Given the description of an element on the screen output the (x, y) to click on. 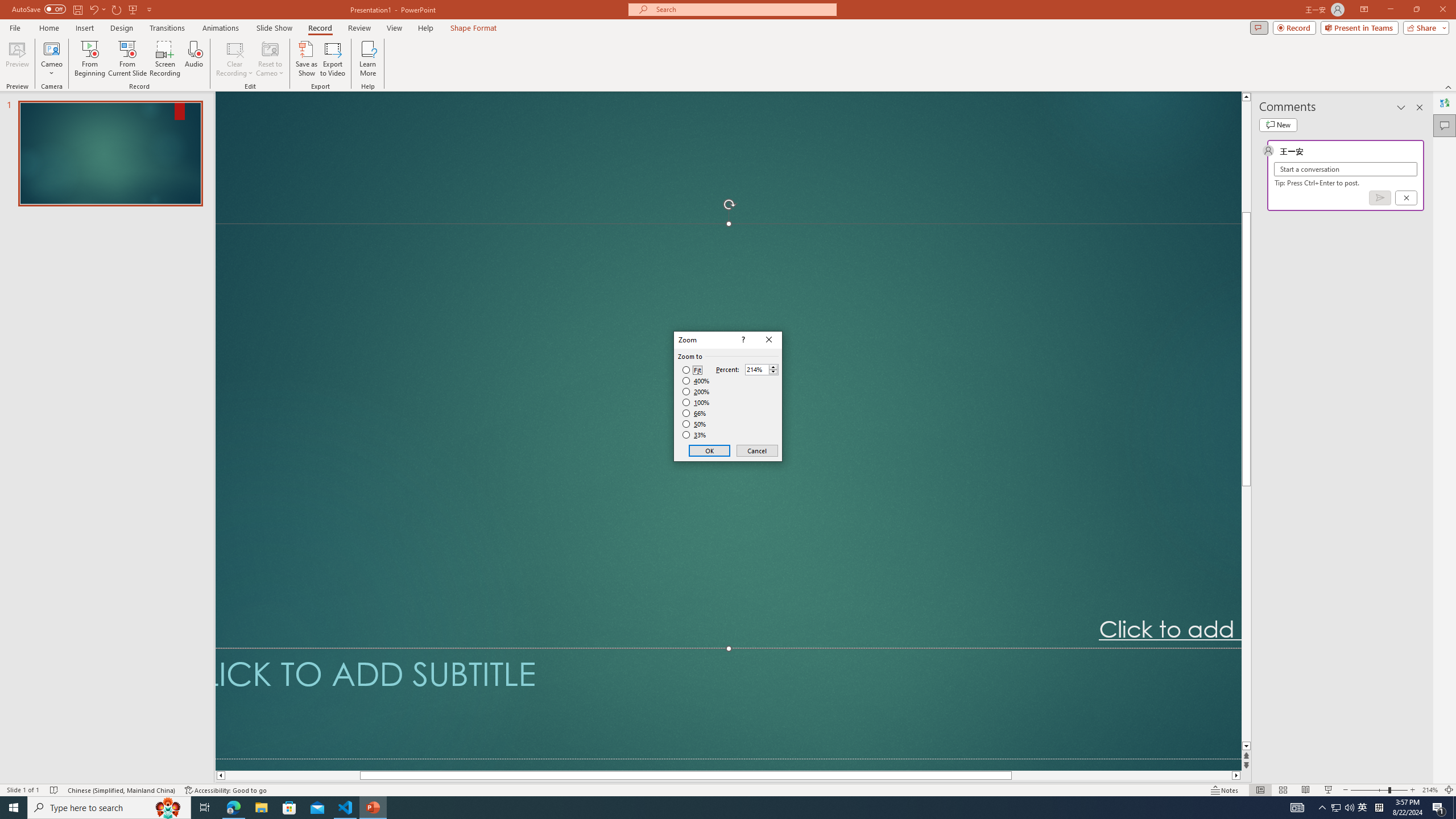
Clear Recording (234, 58)
100% (696, 402)
From Beginning... (89, 58)
